Given the description of an element on the screen output the (x, y) to click on. 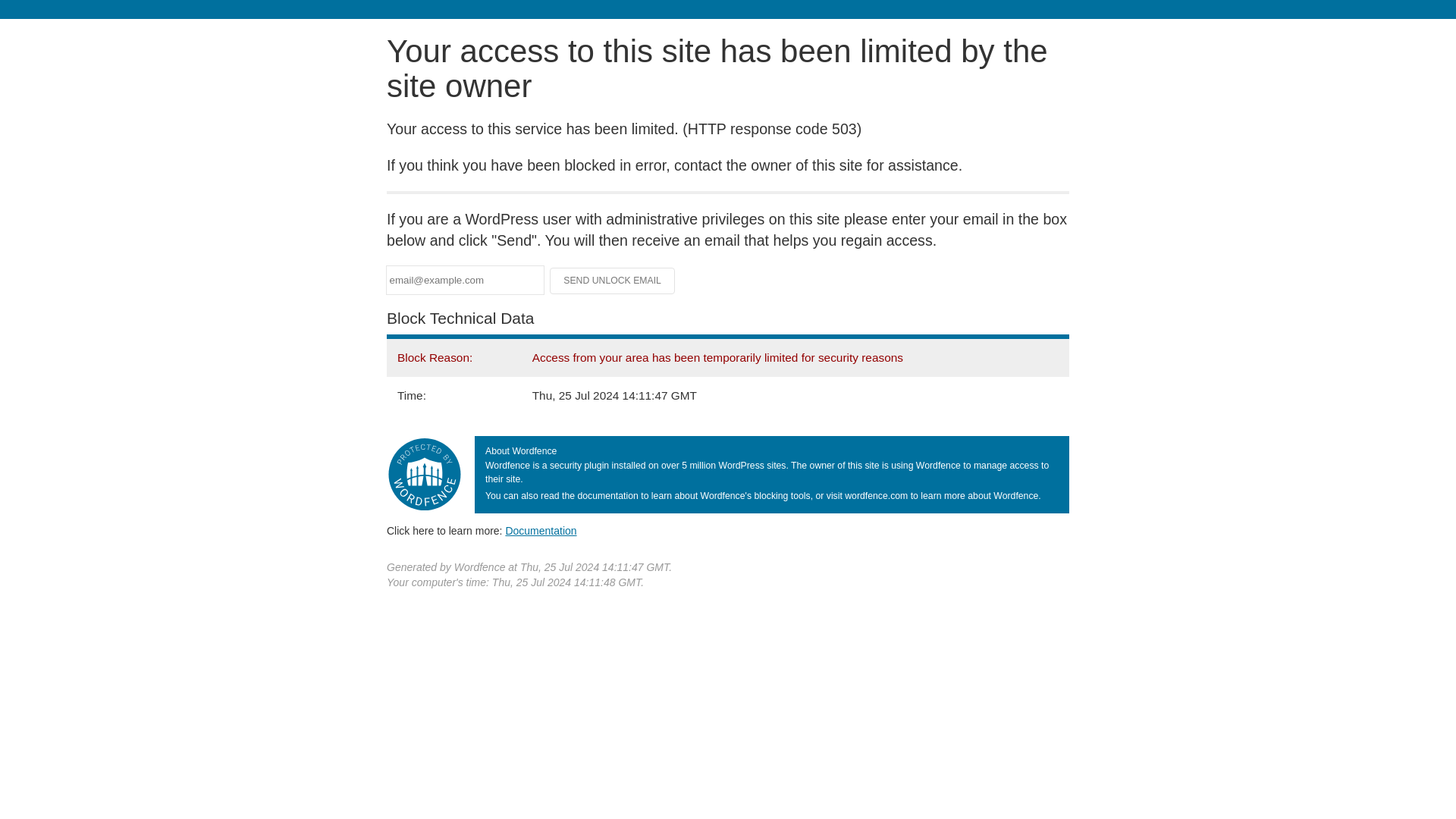
Send Unlock Email (612, 280)
Send Unlock Email (612, 280)
